Given the description of an element on the screen output the (x, y) to click on. 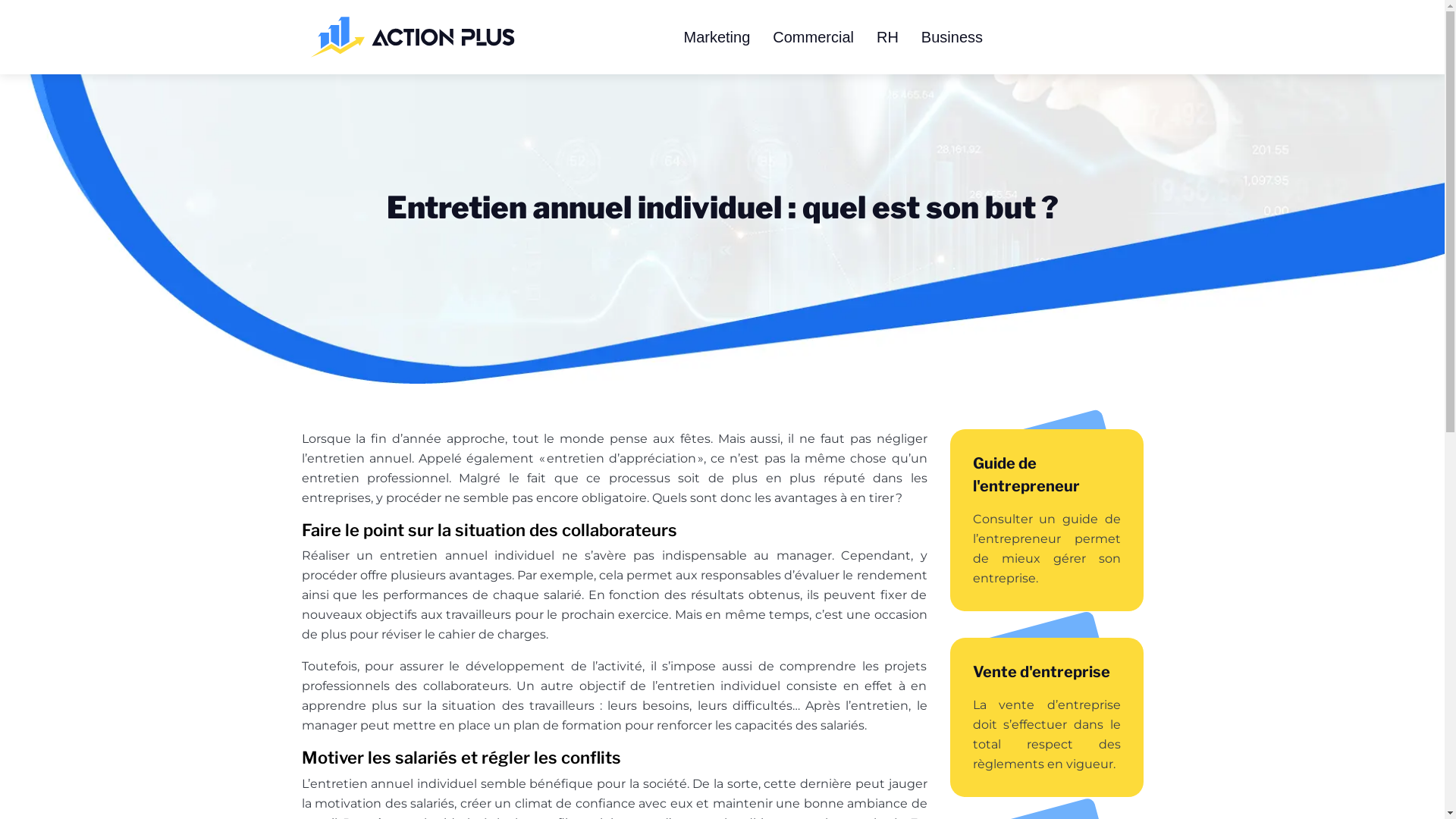
RH Element type: text (887, 36)
Commercial Element type: text (812, 36)
Business Element type: text (951, 36)
Marketing Element type: text (716, 36)
